Given the description of an element on the screen output the (x, y) to click on. 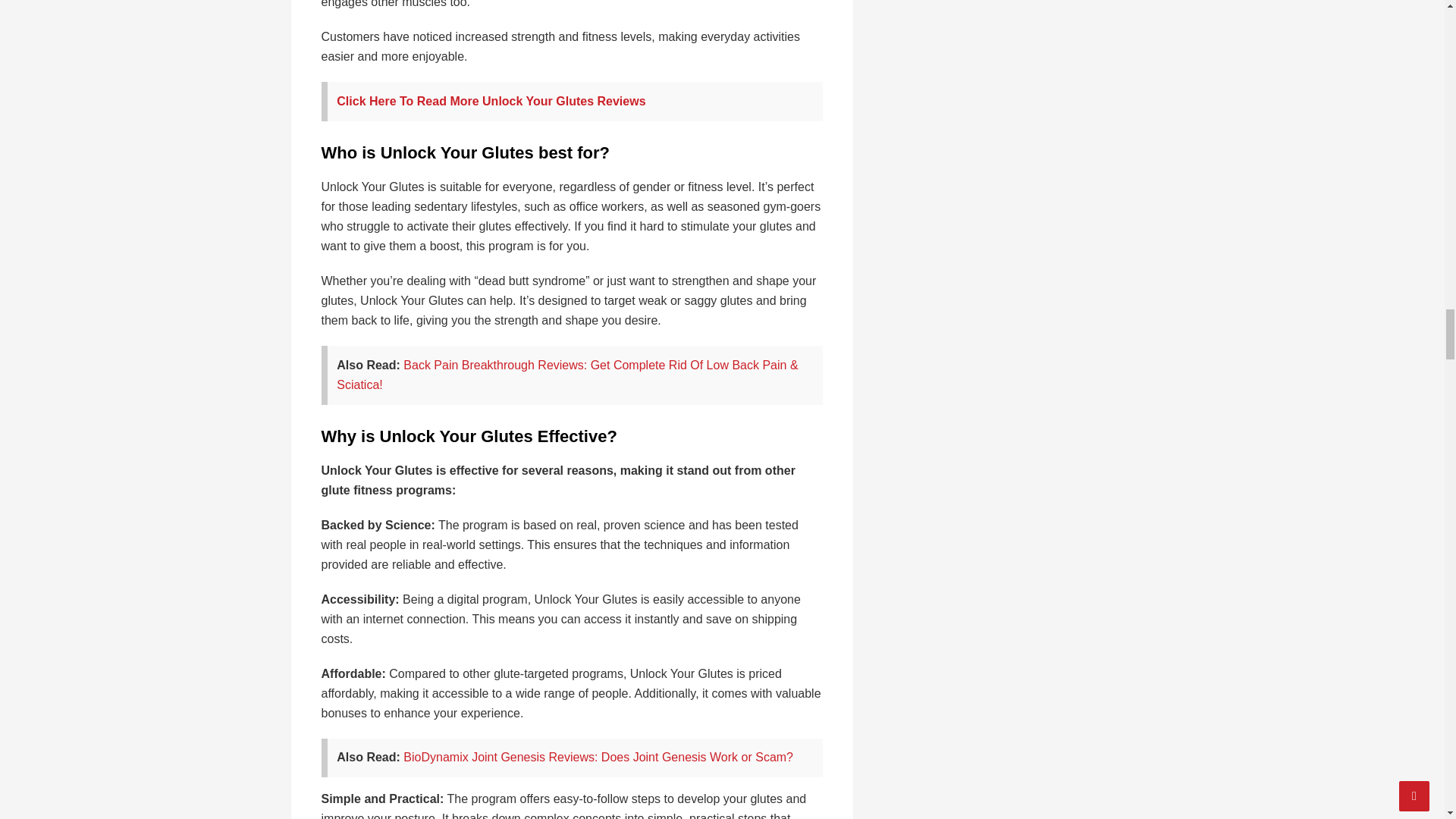
Click Here To Read More Unlock Your Glutes Reviews (490, 101)
